Given the description of an element on the screen output the (x, y) to click on. 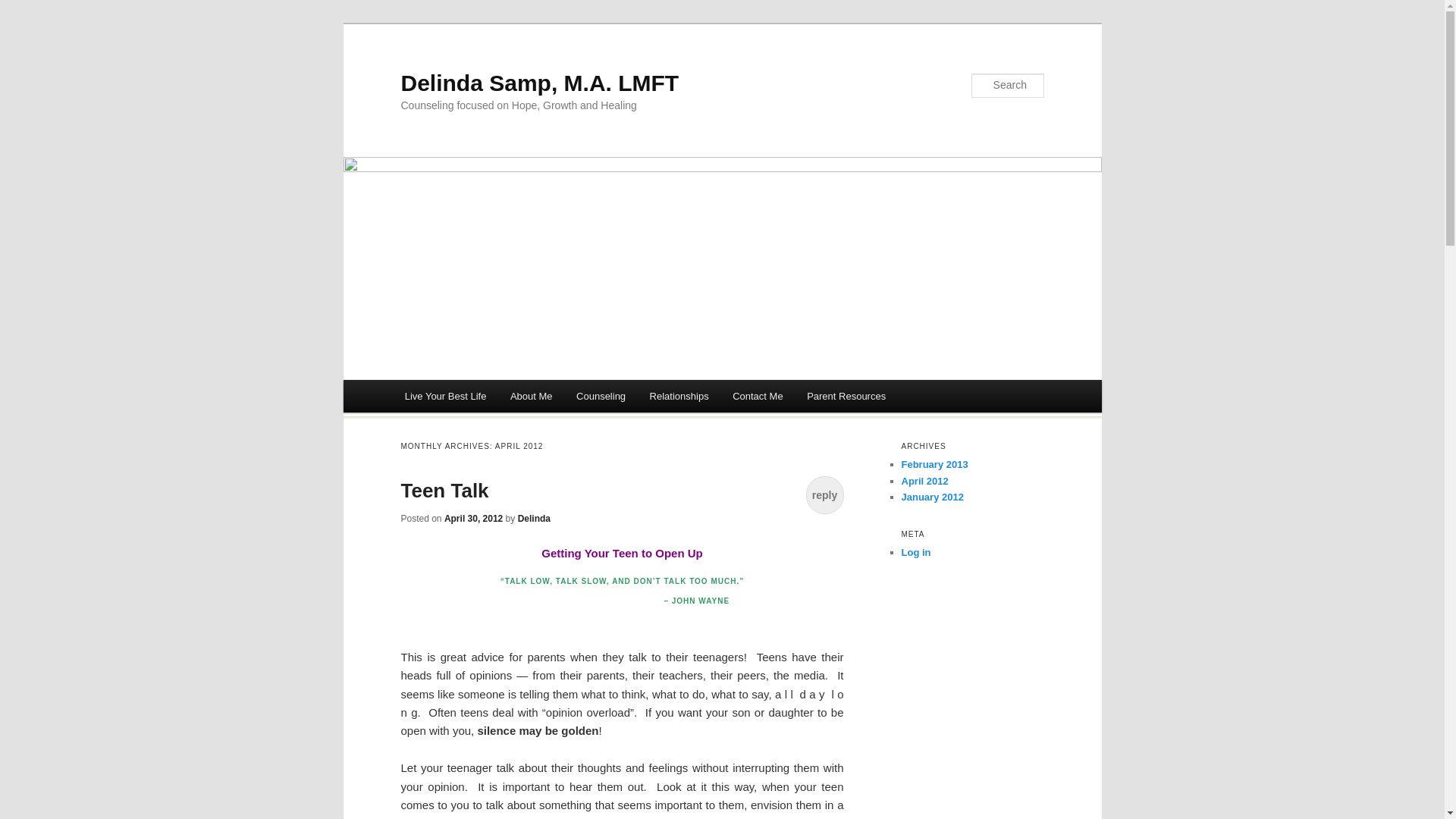
Contact Me (757, 396)
Teen Talk (443, 490)
April 30, 2012 (473, 518)
Counseling (600, 396)
April 2012 (924, 480)
Delinda Samp, M.A. LMFT (539, 82)
Search (24, 8)
January 2012 (931, 496)
Live Your Best Life (445, 396)
reply (824, 494)
About Me (530, 396)
View all posts by Delinda (534, 518)
Log in (915, 552)
February 2013 (934, 464)
Delinda (534, 518)
